Given the description of an element on the screen output the (x, y) to click on. 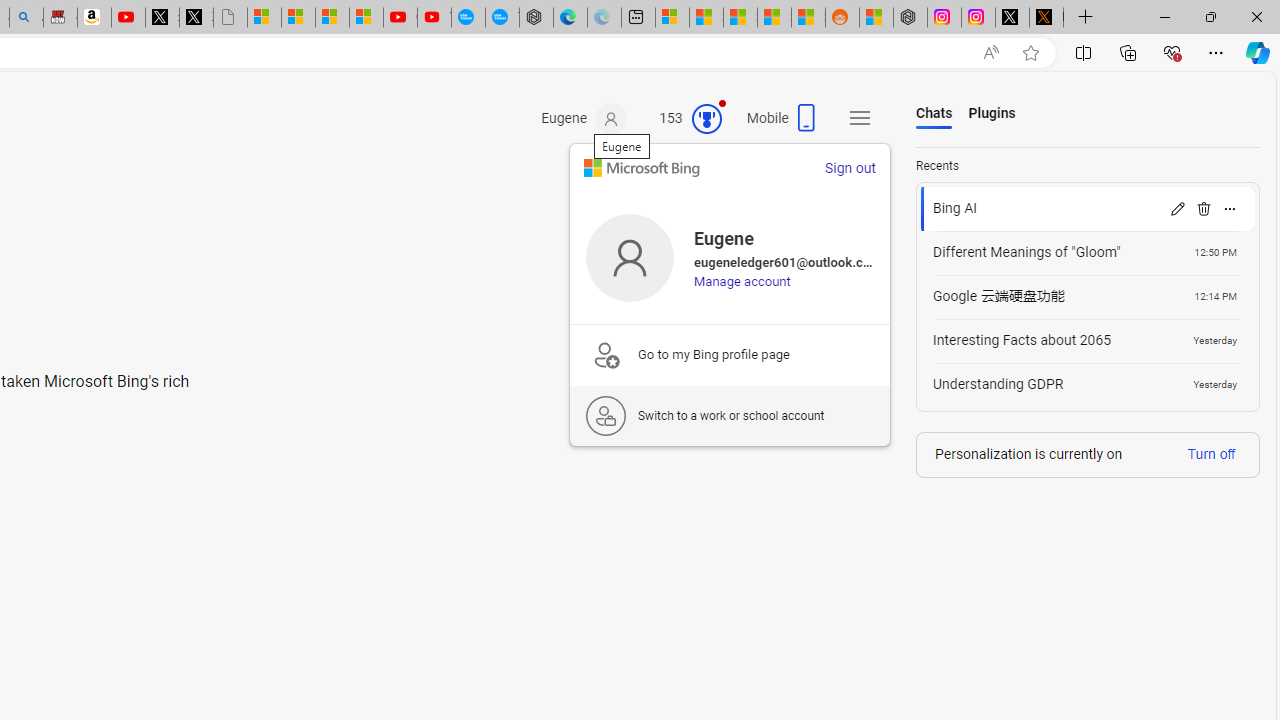
Eugene (584, 119)
Shanghai, China Weather trends | Microsoft Weather (808, 17)
Day 1: Arriving in Yemen (surreal to be here) - YouTube (127, 17)
Log in to X / X (1012, 17)
Go to my Bing profile page (729, 354)
YouTube Kids - An App Created for Kids to Explore Content (434, 17)
Add this page to favorites (Ctrl+D) (1030, 53)
Rename (1177, 208)
microsoft logo (641, 168)
Profile Picture (630, 257)
Nordace - Nordace has arrived Hong Kong (535, 17)
Microsoft Rewards 153 (682, 119)
